Given the description of an element on the screen output the (x, y) to click on. 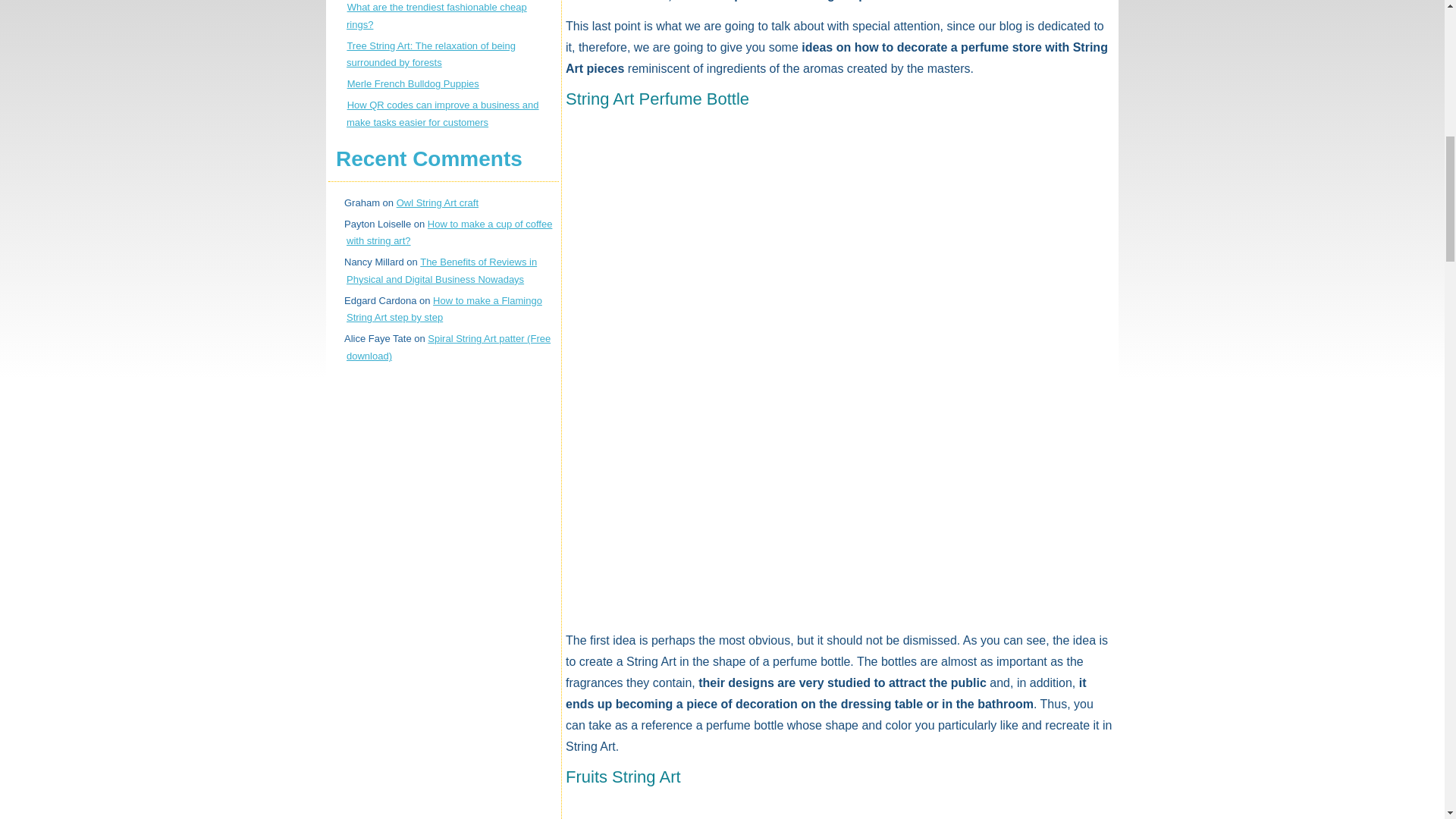
Owl String Art craft (437, 202)
What are the trendiest fashionable cheap rings? (436, 15)
How to make a Flamingo String Art step by step (443, 308)
Merle French Bulldog Puppies (413, 83)
How to make a cup of coffee with string art? (448, 232)
